Given the description of an element on the screen output the (x, y) to click on. 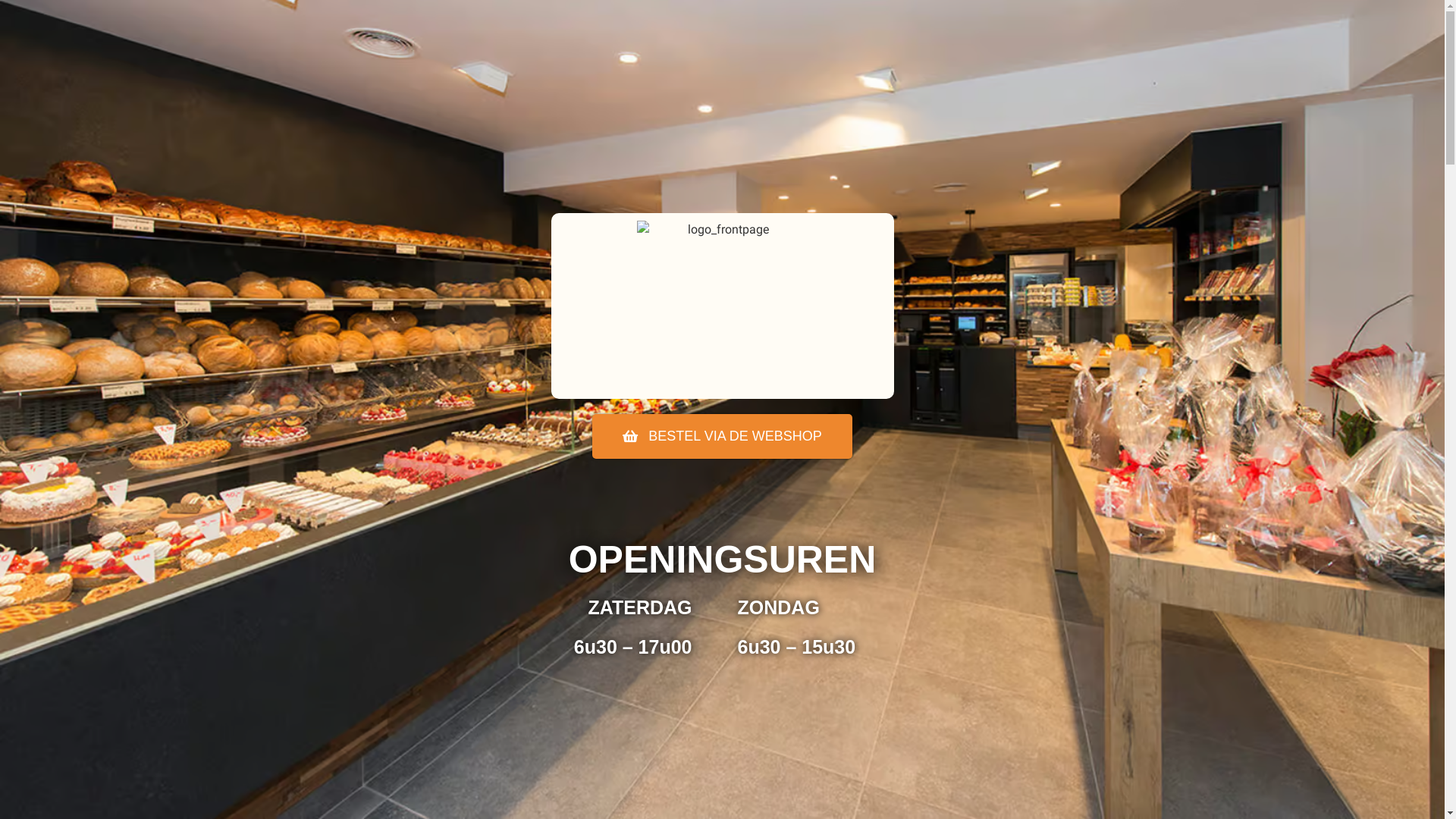
BESTEL VIA DE WEBSHOP Element type: text (721, 436)
logo_frontpage Element type: hover (722, 305)
